Given the description of an element on the screen output the (x, y) to click on. 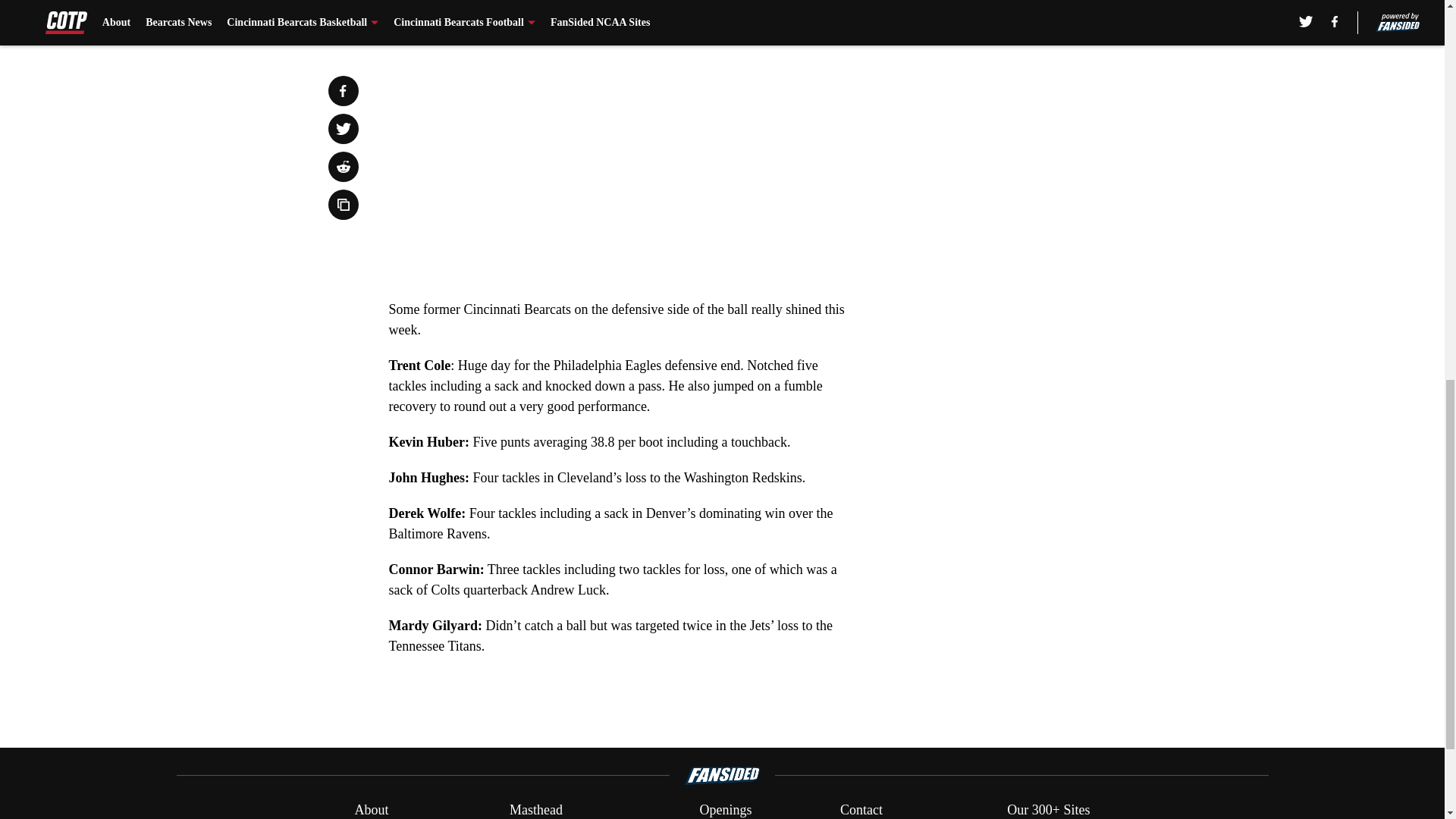
About (370, 809)
Openings (724, 809)
Masthead (535, 809)
Contact (861, 809)
